Given the description of an element on the screen output the (x, y) to click on. 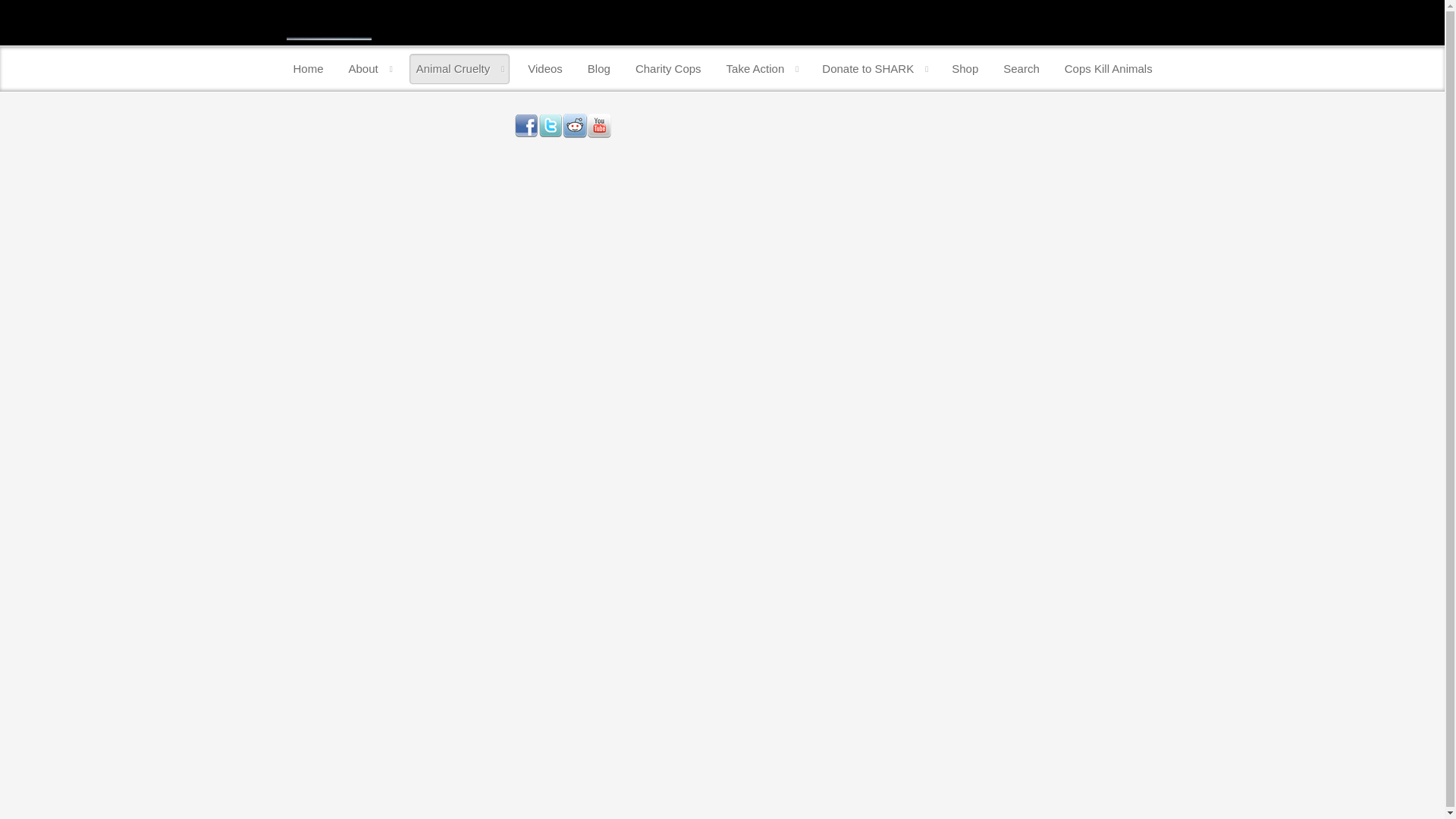
Charity Cops (667, 68)
Take Action (761, 68)
Twitter (550, 125)
Facebook (525, 125)
Donate to SHARK (874, 68)
Home (307, 68)
Youtube (598, 125)
reddit (574, 125)
About (369, 68)
Animal Cruelty (459, 68)
Videos (545, 68)
Blog (597, 68)
